Given the description of an element on the screen output the (x, y) to click on. 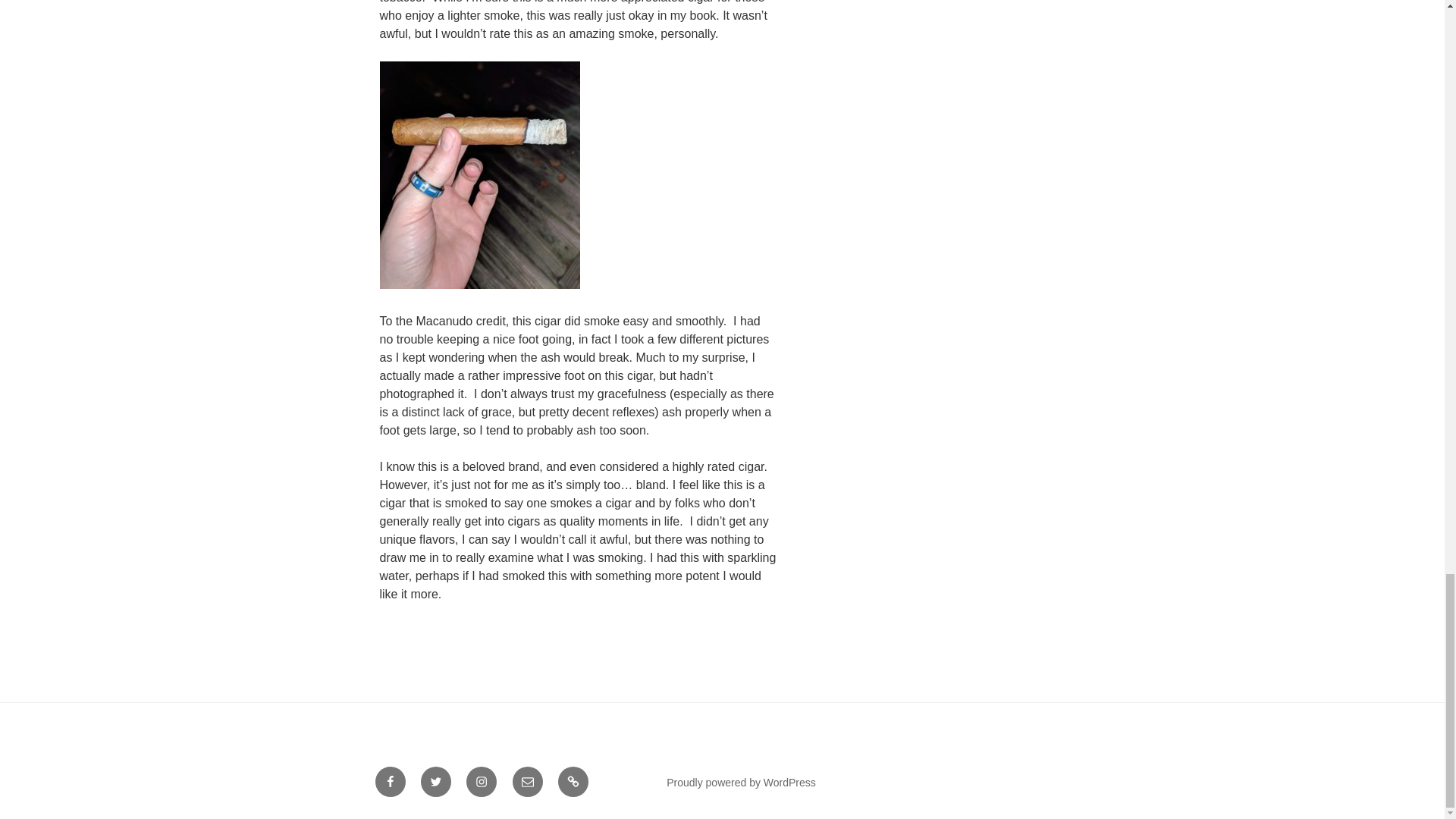
Twitter (435, 781)
Facebook (389, 781)
Proudly powered by WordPress (740, 782)
Email (527, 781)
Instagram (480, 781)
Donate to StixWithSTef (572, 781)
